Given the description of an element on the screen output the (x, y) to click on. 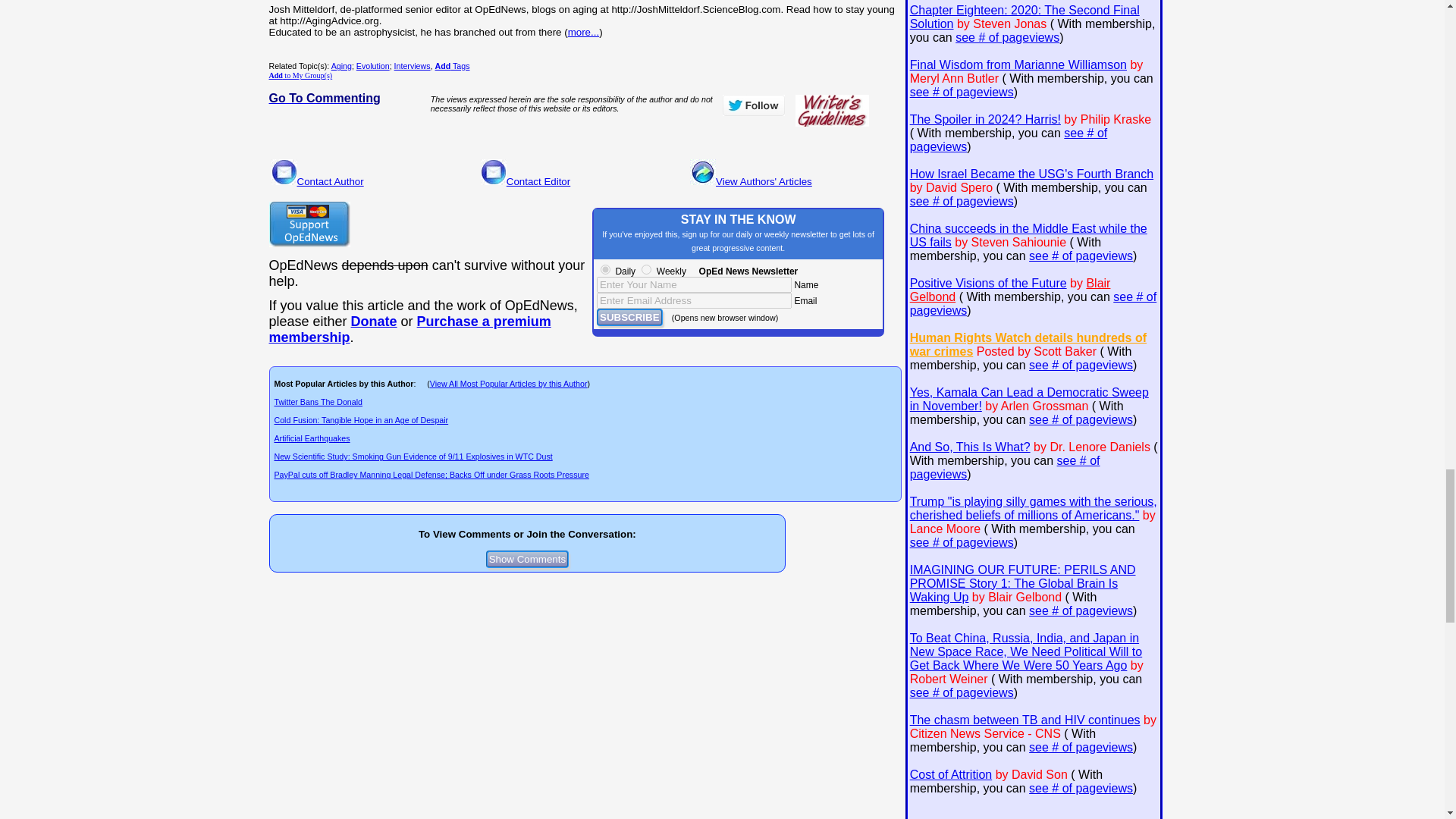
Daily (604, 269)
Follow Me on Twitter (753, 105)
Support OpEdNews (308, 224)
Writers Guidelines (831, 110)
Enter Your Name (694, 284)
Weekly (646, 269)
Enter Email Address (694, 300)
Show Comments (527, 559)
SUBSCRIBE (629, 316)
